Given the description of an element on the screen output the (x, y) to click on. 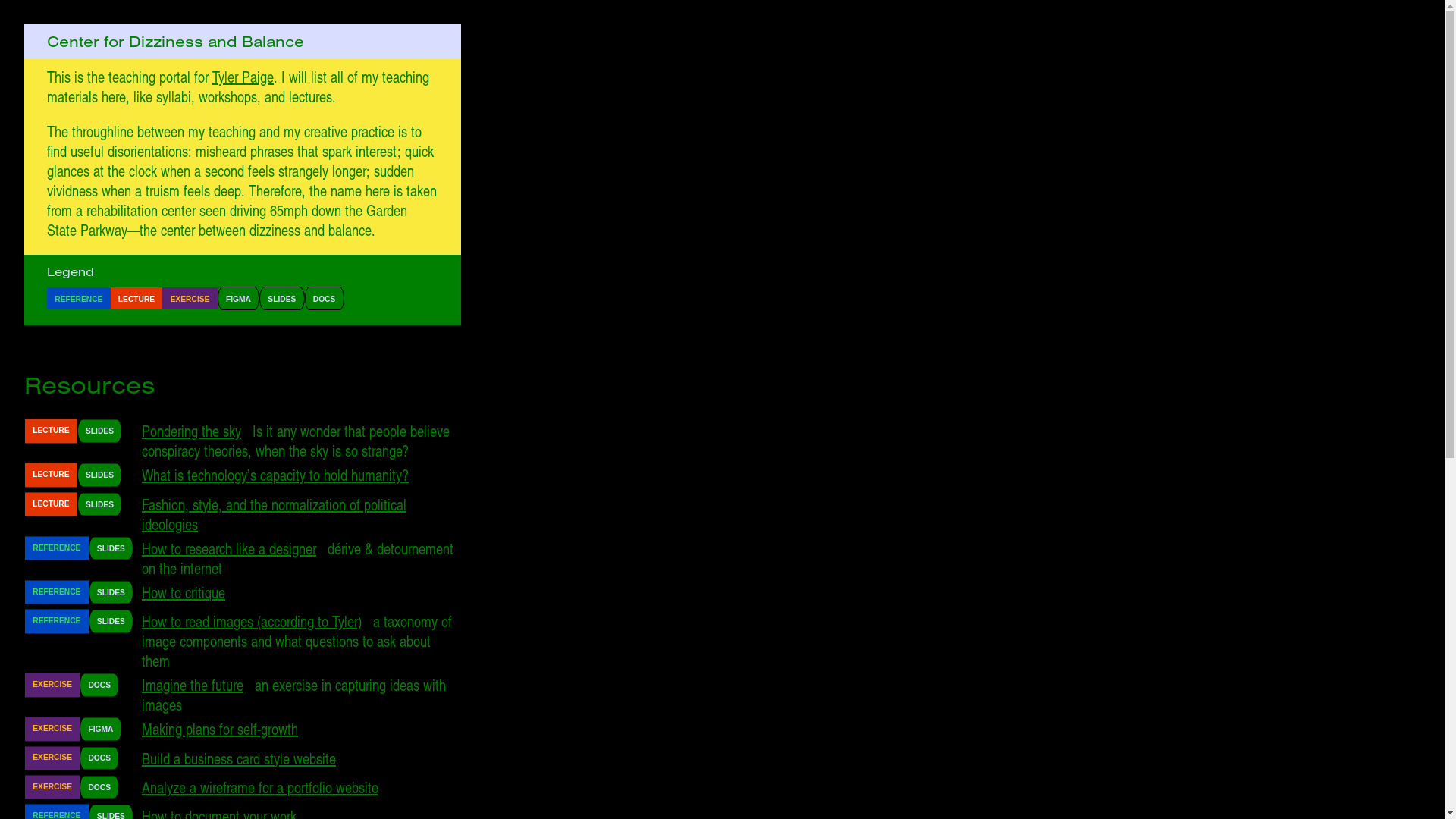
Imagine the future Element type: text (192, 684)
Build a business card style website Element type: text (238, 757)
How to critique Element type: text (183, 591)
Pondering the sky Element type: text (191, 430)
Analyze a wireframe for a portfolio website Element type: text (259, 786)
How to read images (according to Tyler) Element type: text (251, 620)
EXERCISE Element type: text (189, 298)
Tyler Paige Element type: text (242, 76)
FIGMA Element type: text (238, 298)
How to research like a designer Element type: text (228, 547)
SLIDES Element type: text (281, 298)
DOCS Element type: text (324, 298)
LECTURE Element type: text (136, 298)
Making plans for self-growth Element type: text (219, 728)
REFERENCE Element type: text (78, 298)
